Given the description of an element on the screen output the (x, y) to click on. 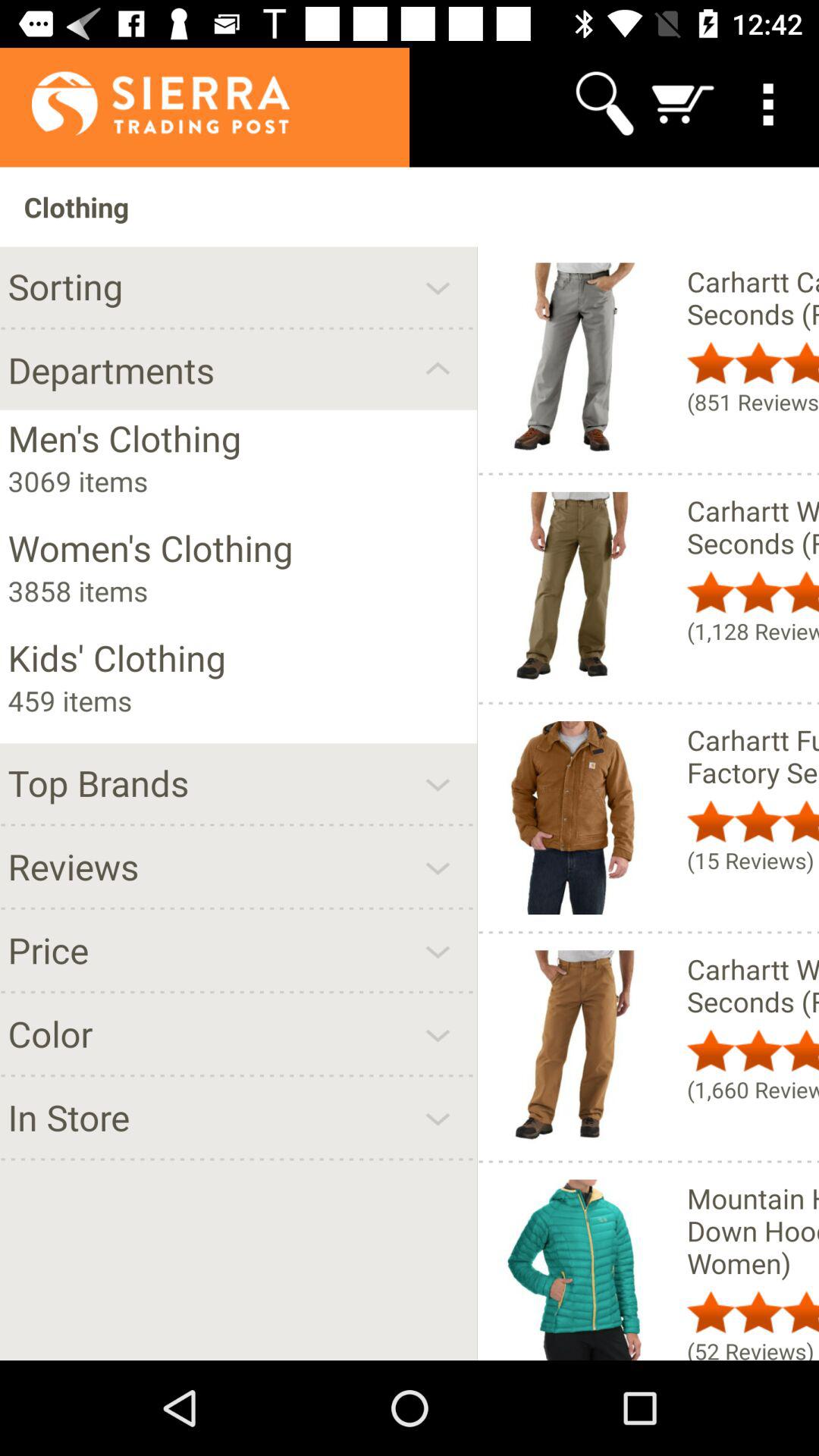
tap icon below (1,128 reviews) (753, 756)
